Given the description of an element on the screen output the (x, y) to click on. 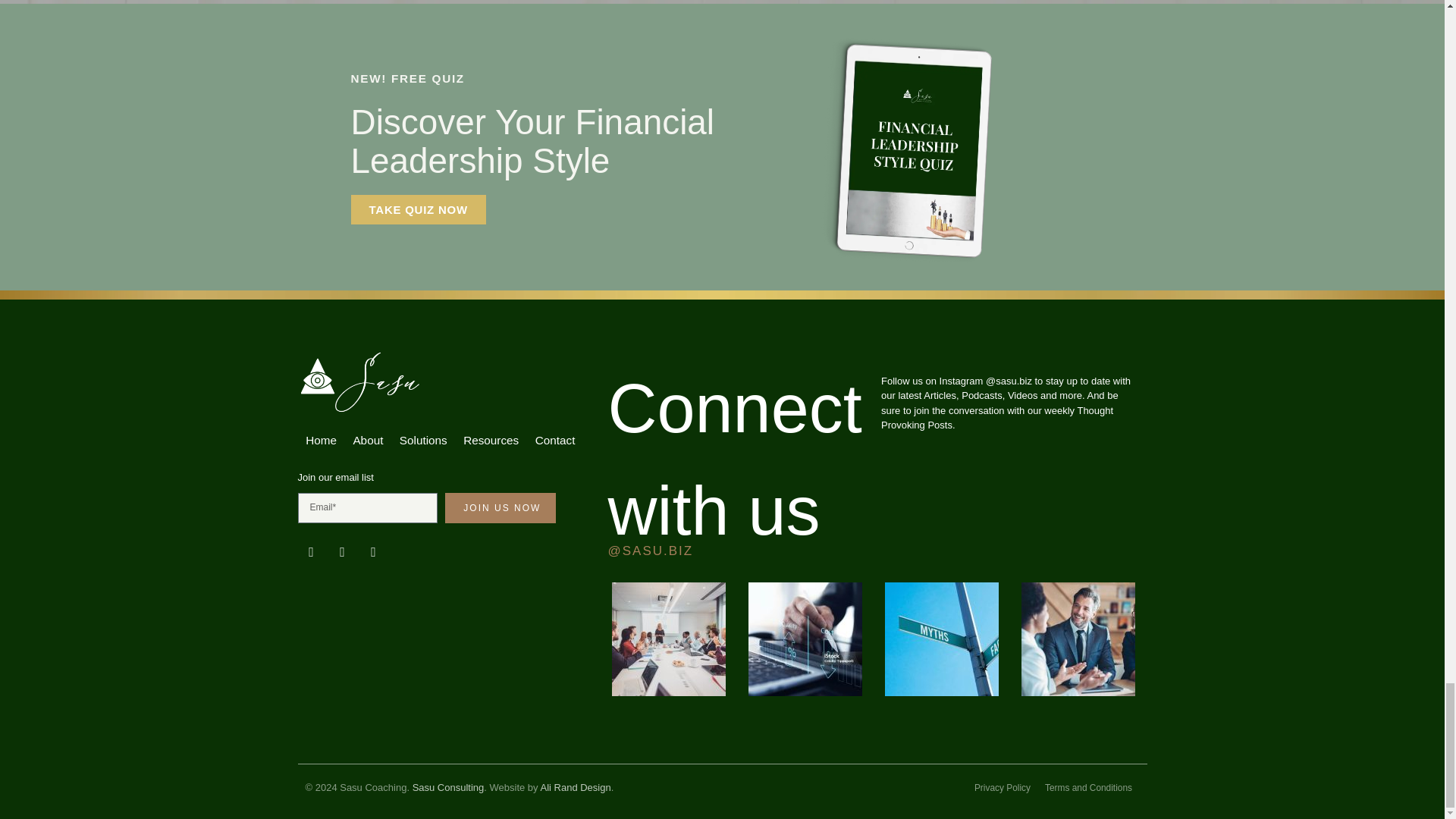
instagram (373, 551)
About (368, 440)
Home (320, 440)
quiz (417, 209)
quiz (905, 137)
facebook (342, 551)
Contact (555, 440)
Sasu Consulting (448, 787)
instagram (651, 550)
linkedin (310, 551)
home (411, 382)
Ali Rand Design (575, 787)
TAKE QUIZ NOW (417, 209)
Solutions (422, 440)
JOIN US NOW (500, 508)
